Given the description of an element on the screen output the (x, y) to click on. 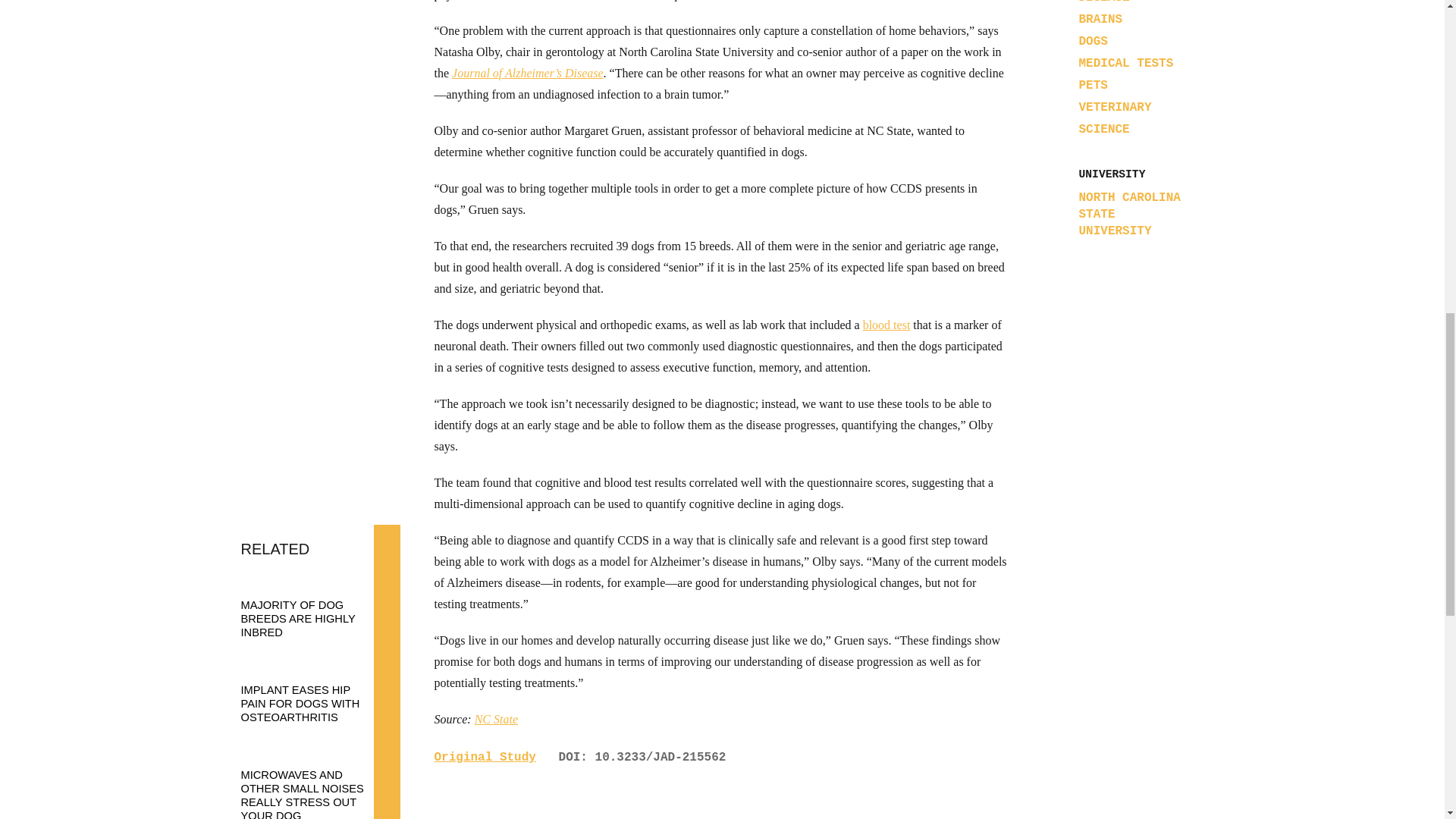
Majority of dog breeds are highly inbred (313, 604)
DOGS (1092, 41)
PETS (1092, 85)
ALZHEIMER'S DISEASE (1118, 2)
MEDICAL TESTS (1125, 63)
BRAINS (1100, 19)
